Given the description of an element on the screen output the (x, y) to click on. 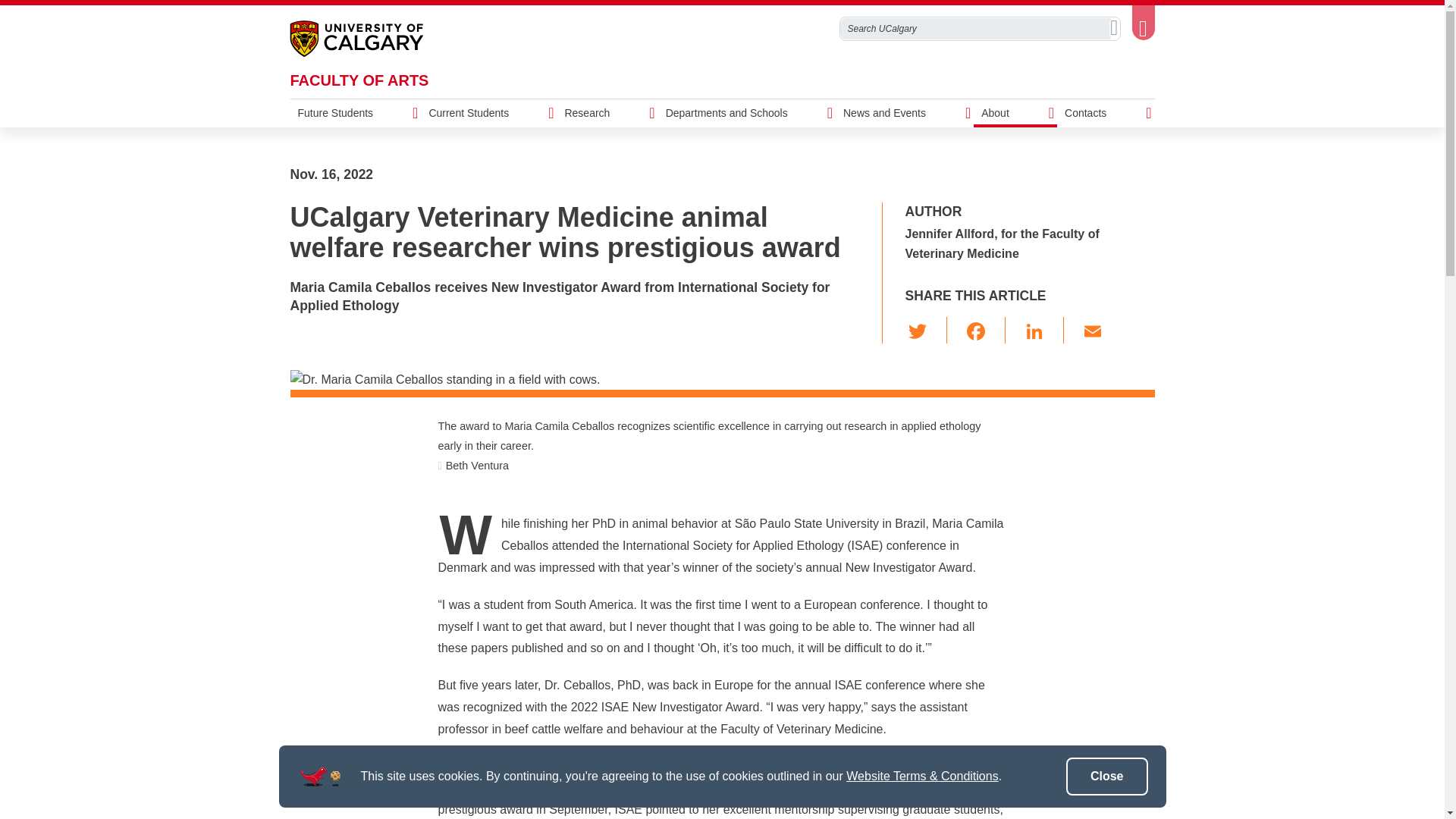
Close (1106, 776)
